Given the description of an element on the screen output the (x, y) to click on. 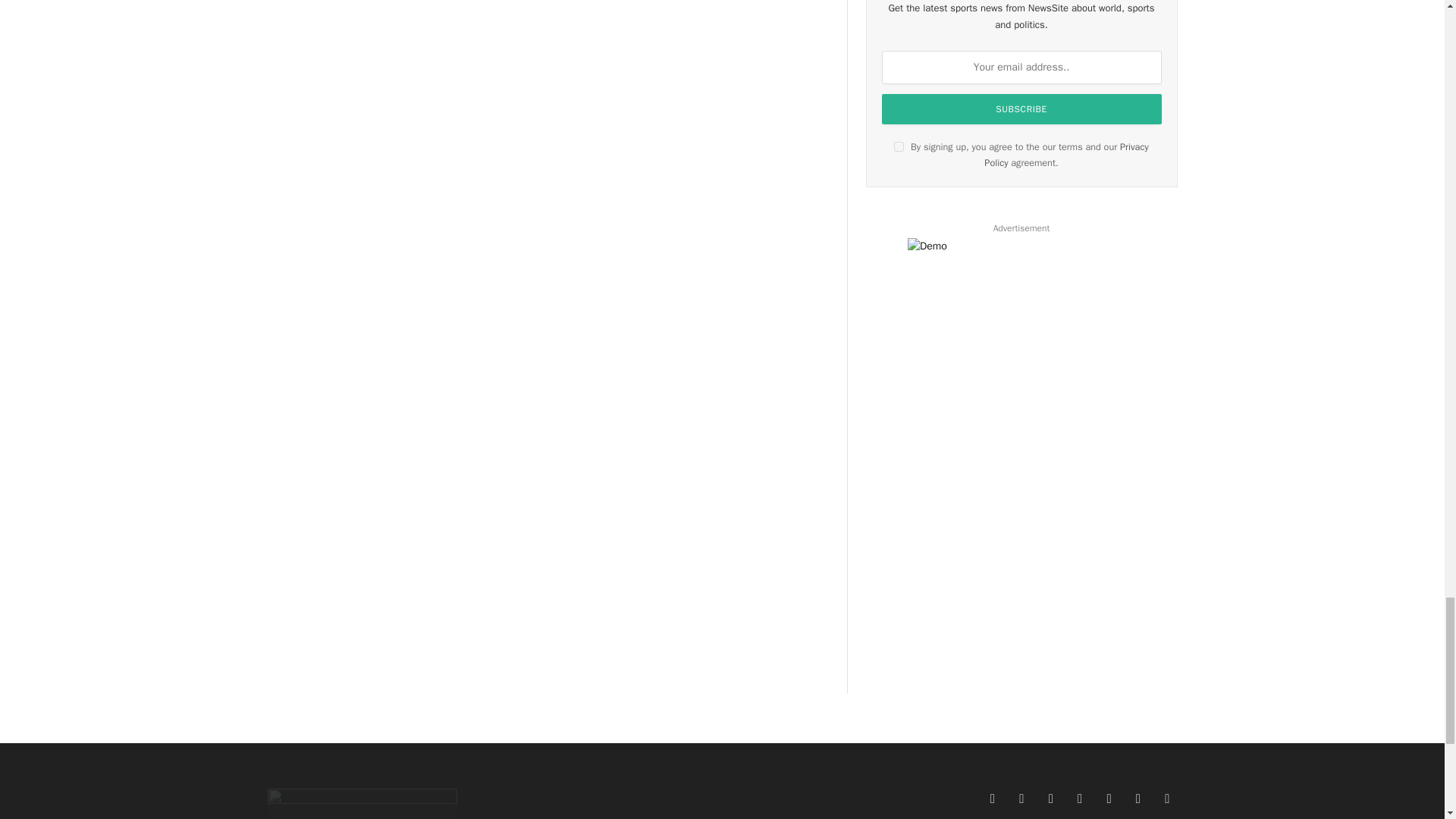
Subscribe (1021, 109)
on (898, 146)
